Given the description of an element on the screen output the (x, y) to click on. 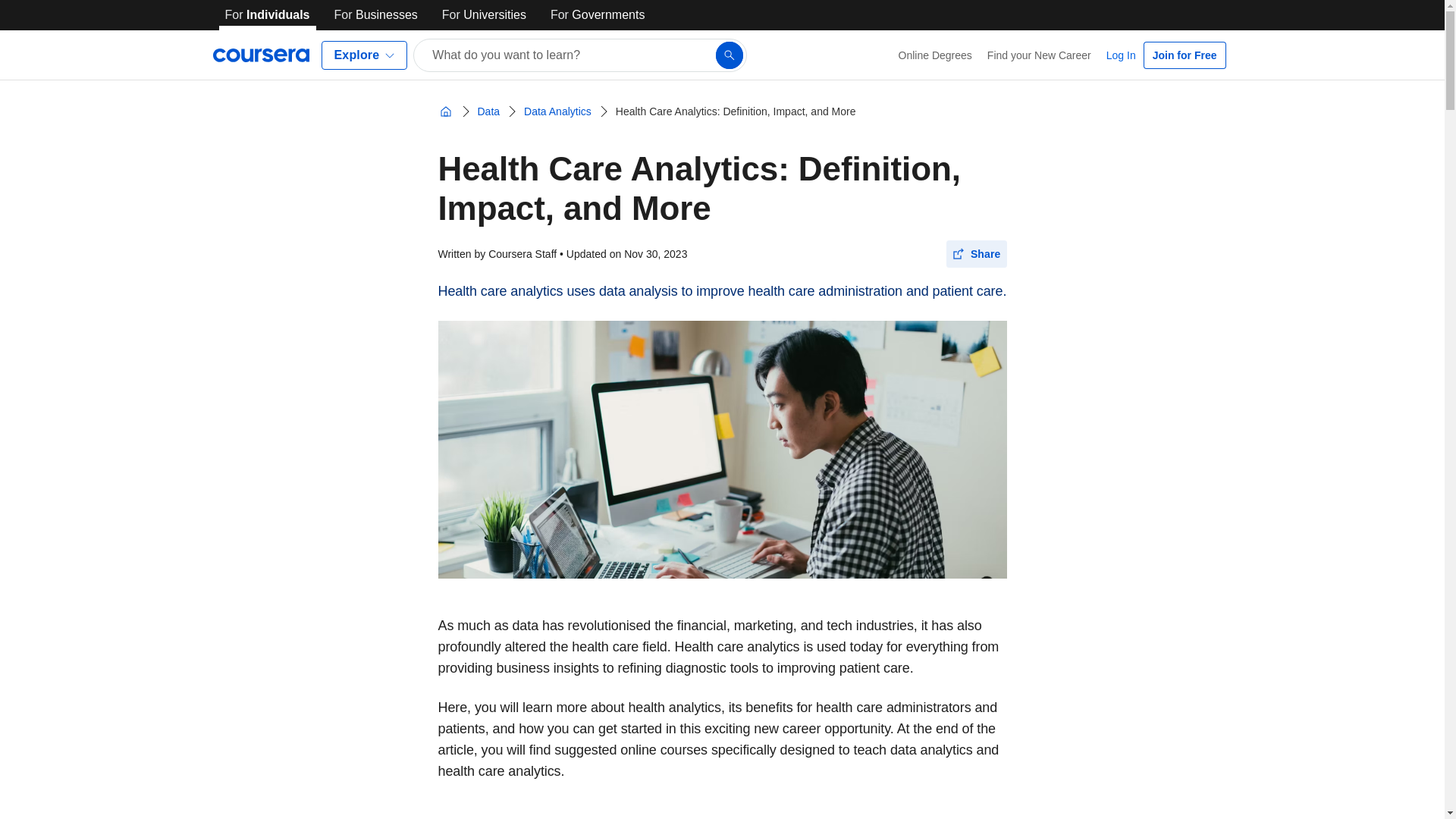
For Individuals (266, 15)
Data (488, 111)
Explore (364, 54)
Join for Free (1183, 53)
Log In (1120, 54)
Share (976, 253)
For Businesses (376, 15)
Online Degrees (935, 54)
Health Care Analytics: Definition, Impact, and More (735, 111)
Find your New Career (1039, 54)
Data Analytics (557, 111)
For Universities (483, 15)
For Governments (597, 15)
